Given the description of an element on the screen output the (x, y) to click on. 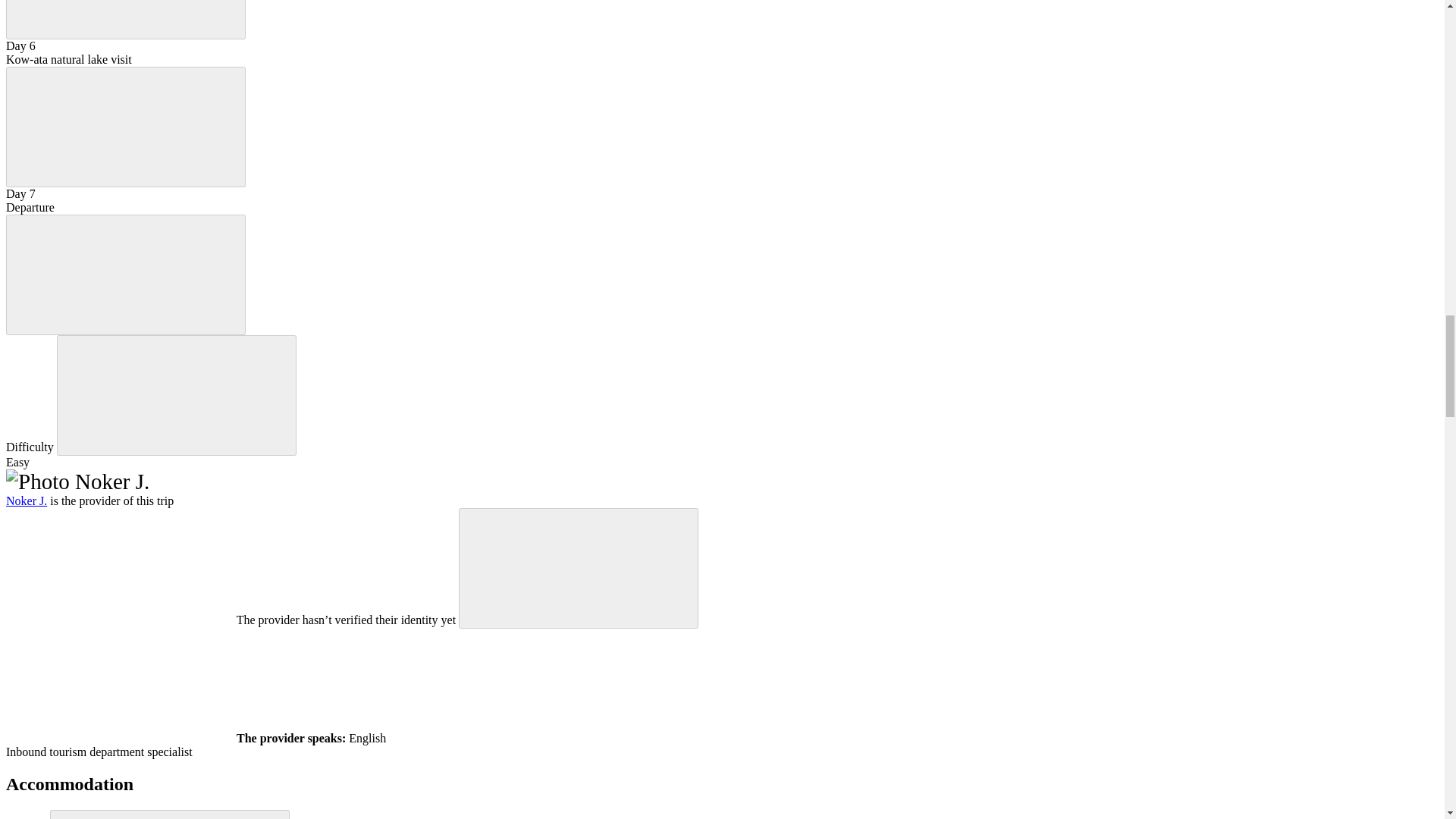
Noker J. (25, 500)
